Given the description of an element on the screen output the (x, y) to click on. 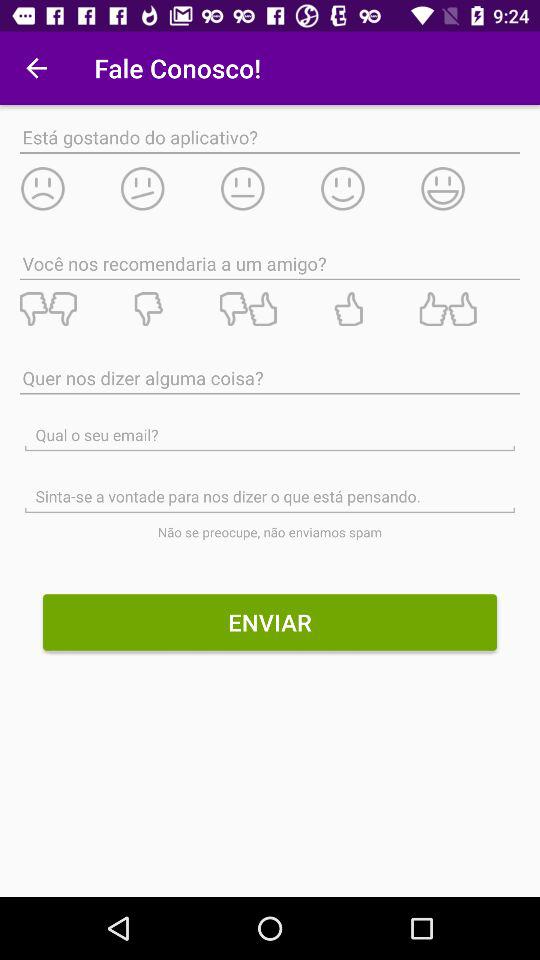
dislike (69, 309)
